Given the description of an element on the screen output the (x, y) to click on. 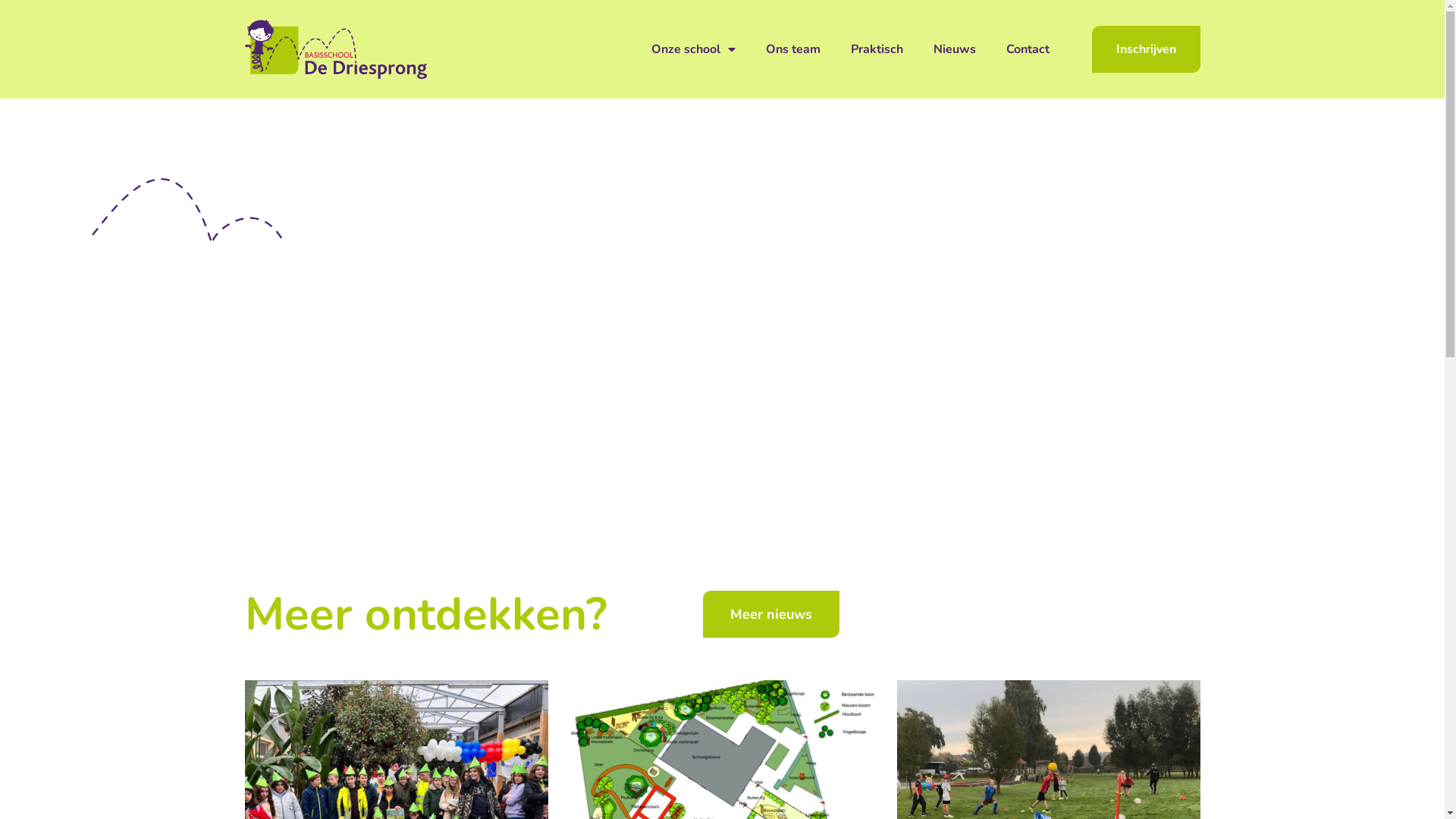
Onze school Element type: text (692, 49)
Ons team Element type: text (792, 49)
Nieuws Element type: text (953, 49)
Praktisch Element type: text (876, 49)
Meer nieuws Element type: text (770, 613)
Inschrijven Element type: text (1146, 48)
Contact Element type: text (1026, 49)
